Given the description of an element on the screen output the (x, y) to click on. 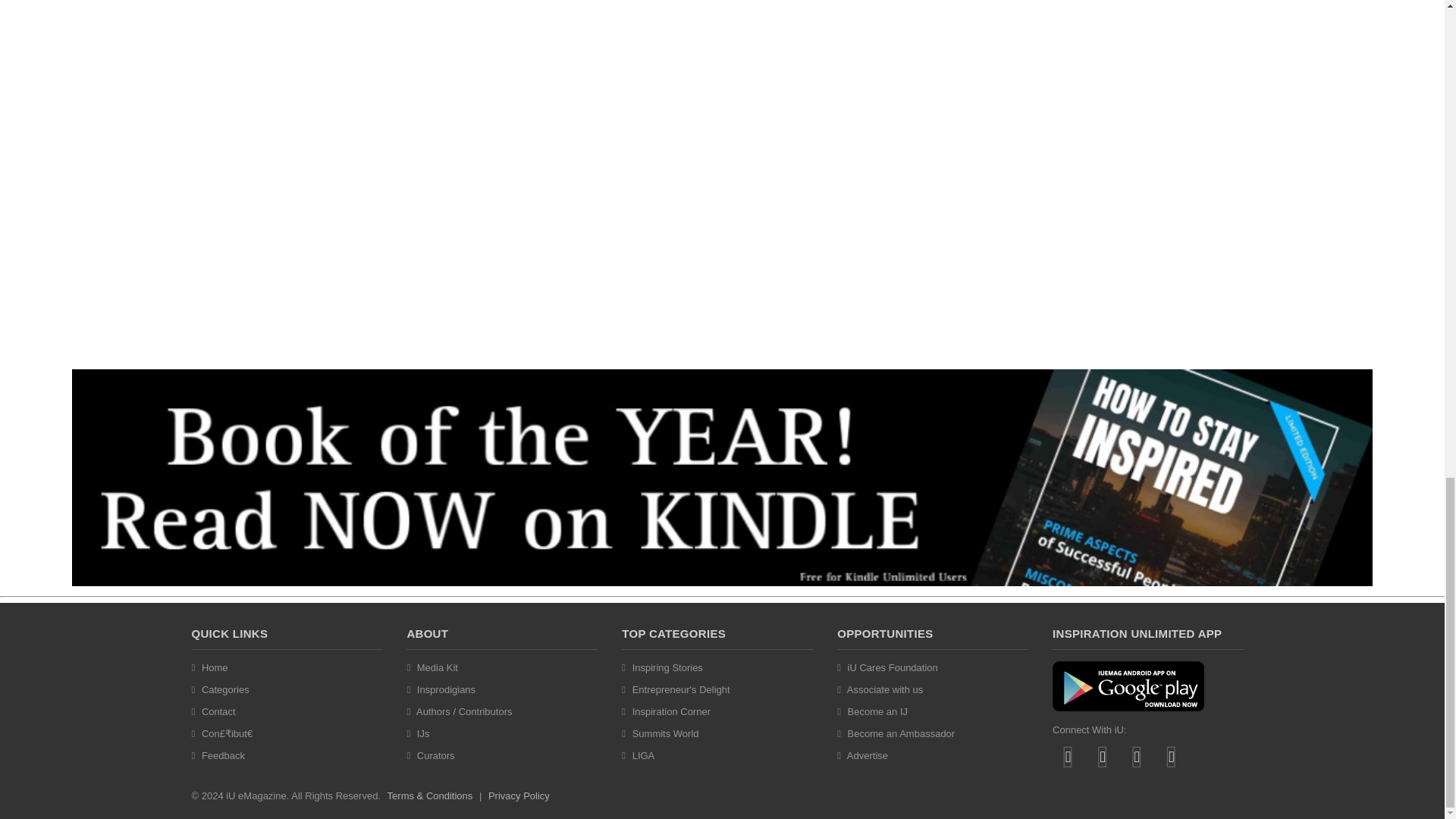
Home (215, 667)
